Given the description of an element on the screen output the (x, y) to click on. 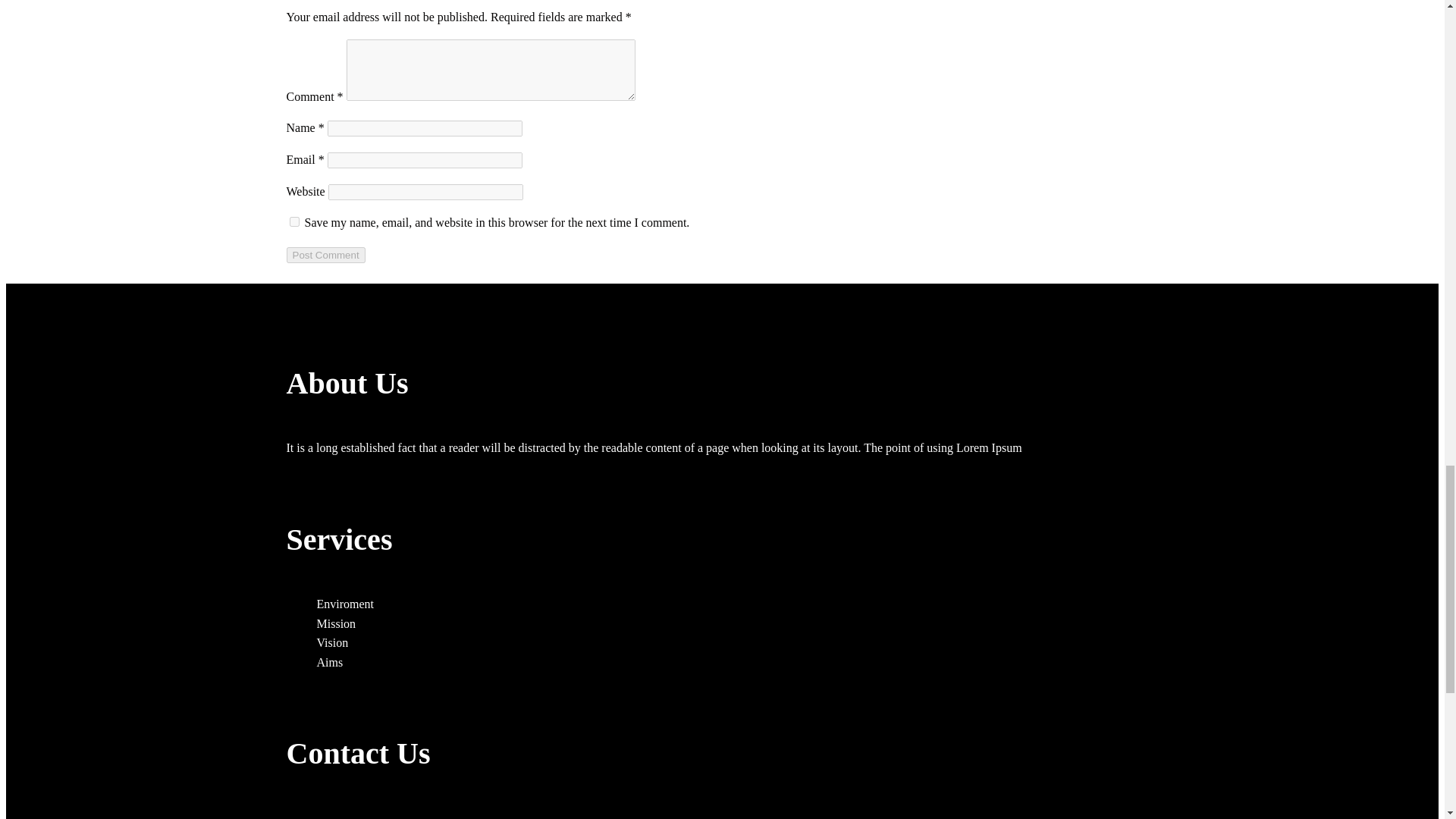
Post Comment (325, 254)
yes (294, 221)
Post Comment (325, 254)
